Given the description of an element on the screen output the (x, y) to click on. 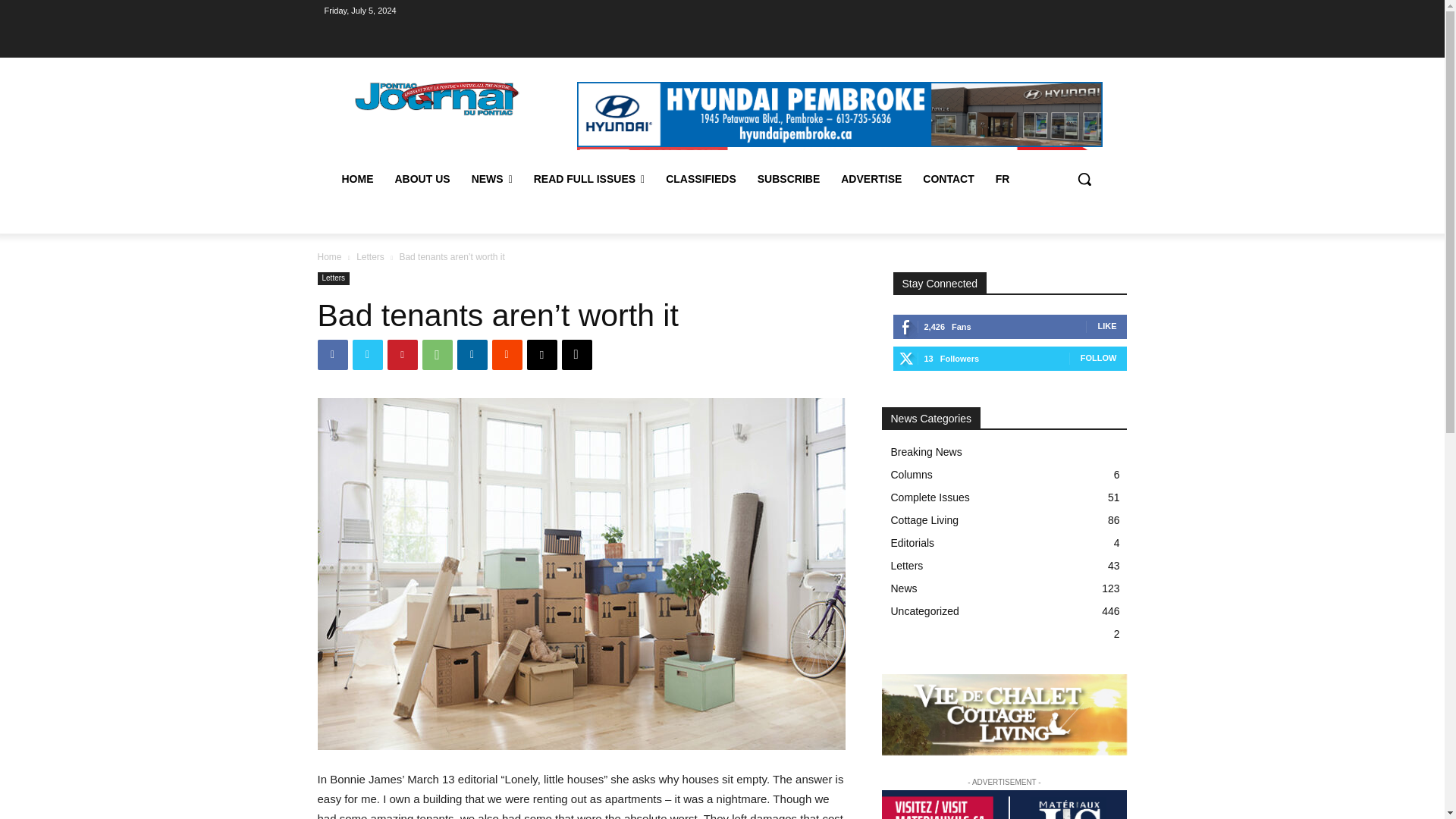
CLASSIFIEDS (700, 178)
Home (328, 256)
ADVERTISE (870, 178)
SUBSCRIBE (787, 178)
FR (1002, 178)
ReddIt (506, 354)
View all posts in Letters (370, 256)
ABOUT US (422, 178)
HOME (357, 178)
Email (540, 354)
Letters (370, 256)
Twitter (366, 354)
Facebook (332, 354)
Linkedin (471, 354)
Pontiac Journal (437, 97)
